Given the description of an element on the screen output the (x, y) to click on. 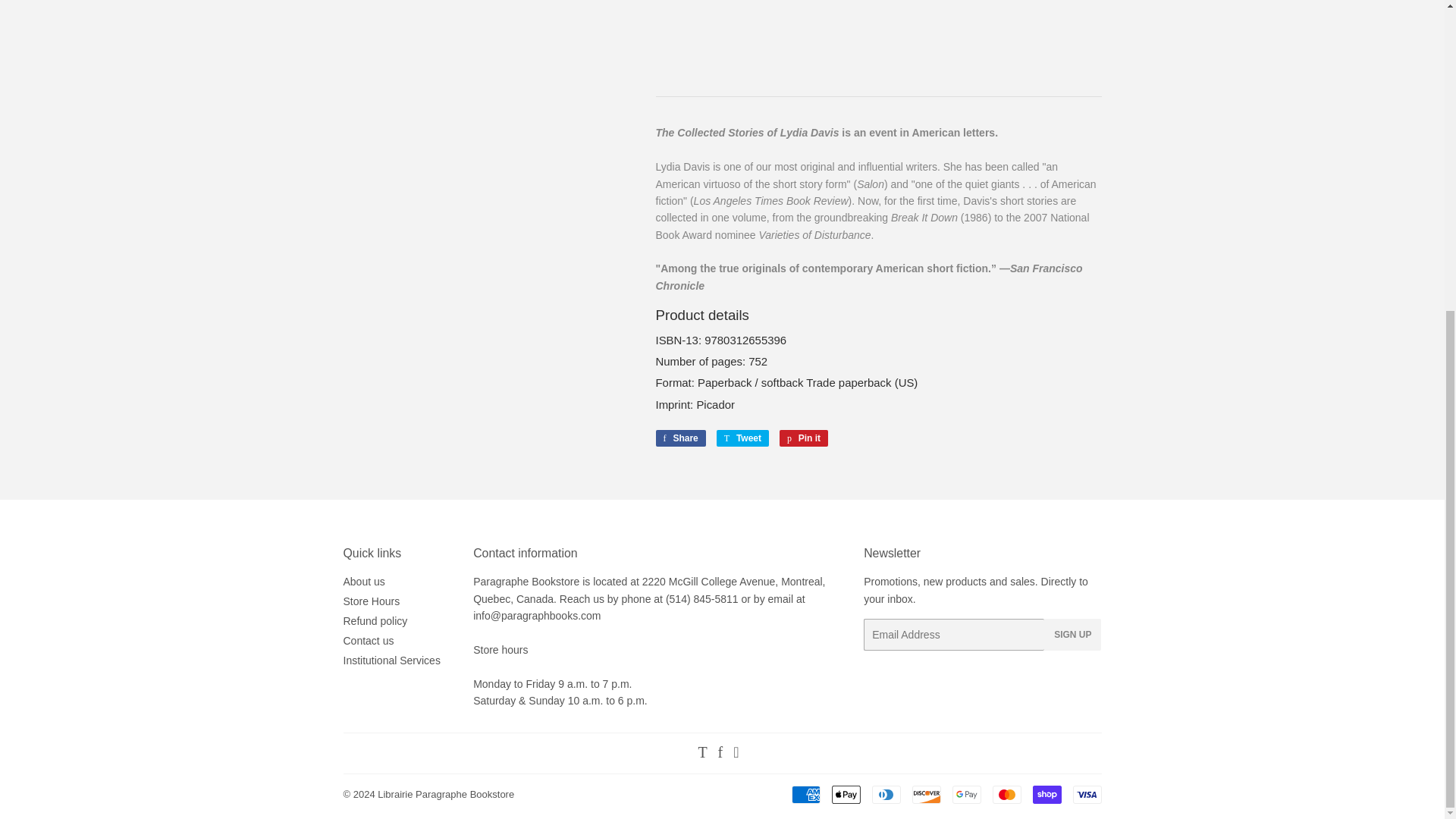
Mastercard (1005, 794)
Discover (925, 794)
American Express (806, 794)
Diners Club (886, 794)
Tweet on Twitter (742, 437)
Share on Facebook (679, 437)
Shop Pay (1046, 794)
Google Pay (966, 794)
Visa (1085, 794)
Pin on Pinterest (803, 437)
